Given the description of an element on the screen output the (x, y) to click on. 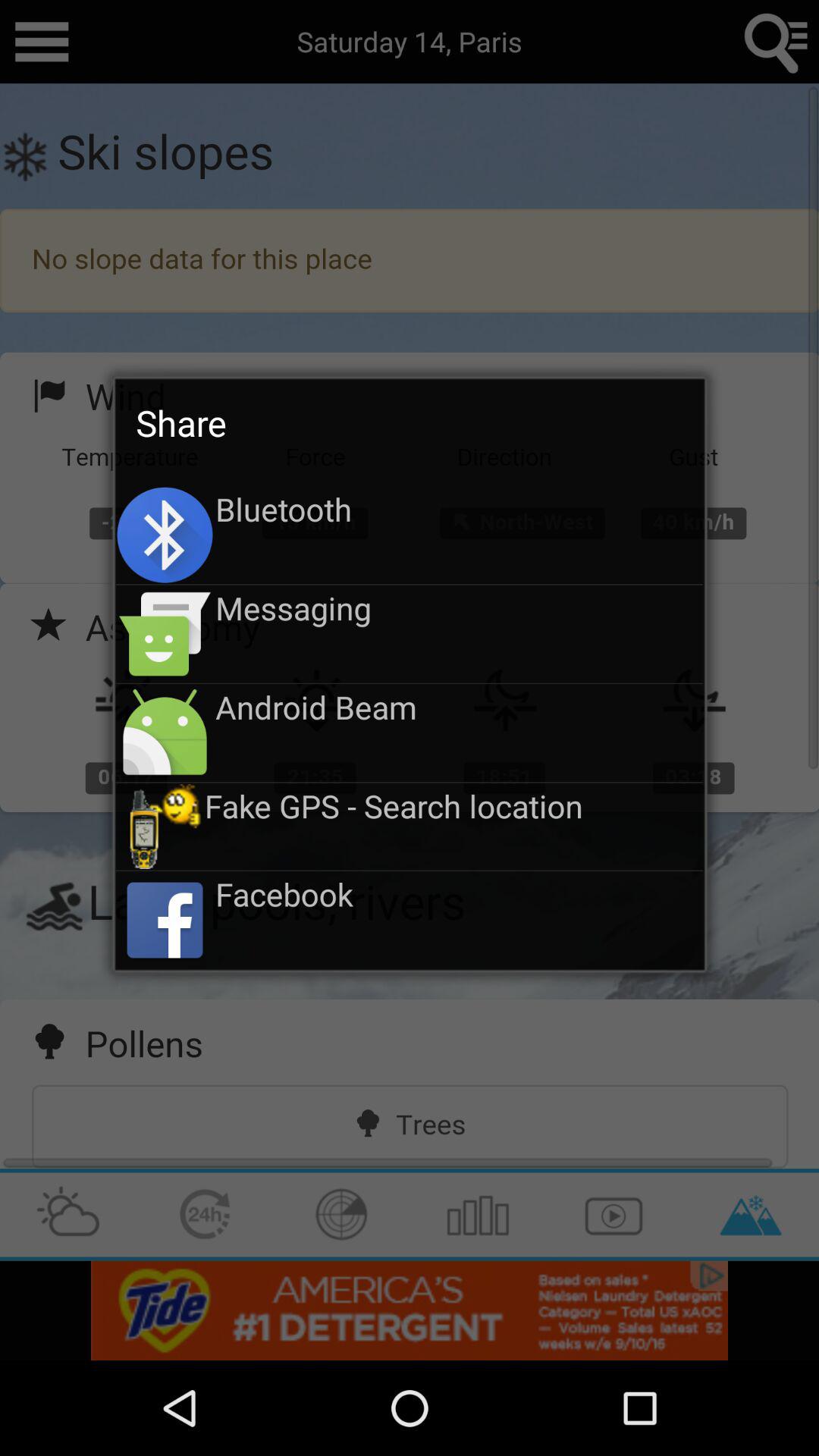
flip to bluetooth icon (458, 508)
